Given the description of an element on the screen output the (x, y) to click on. 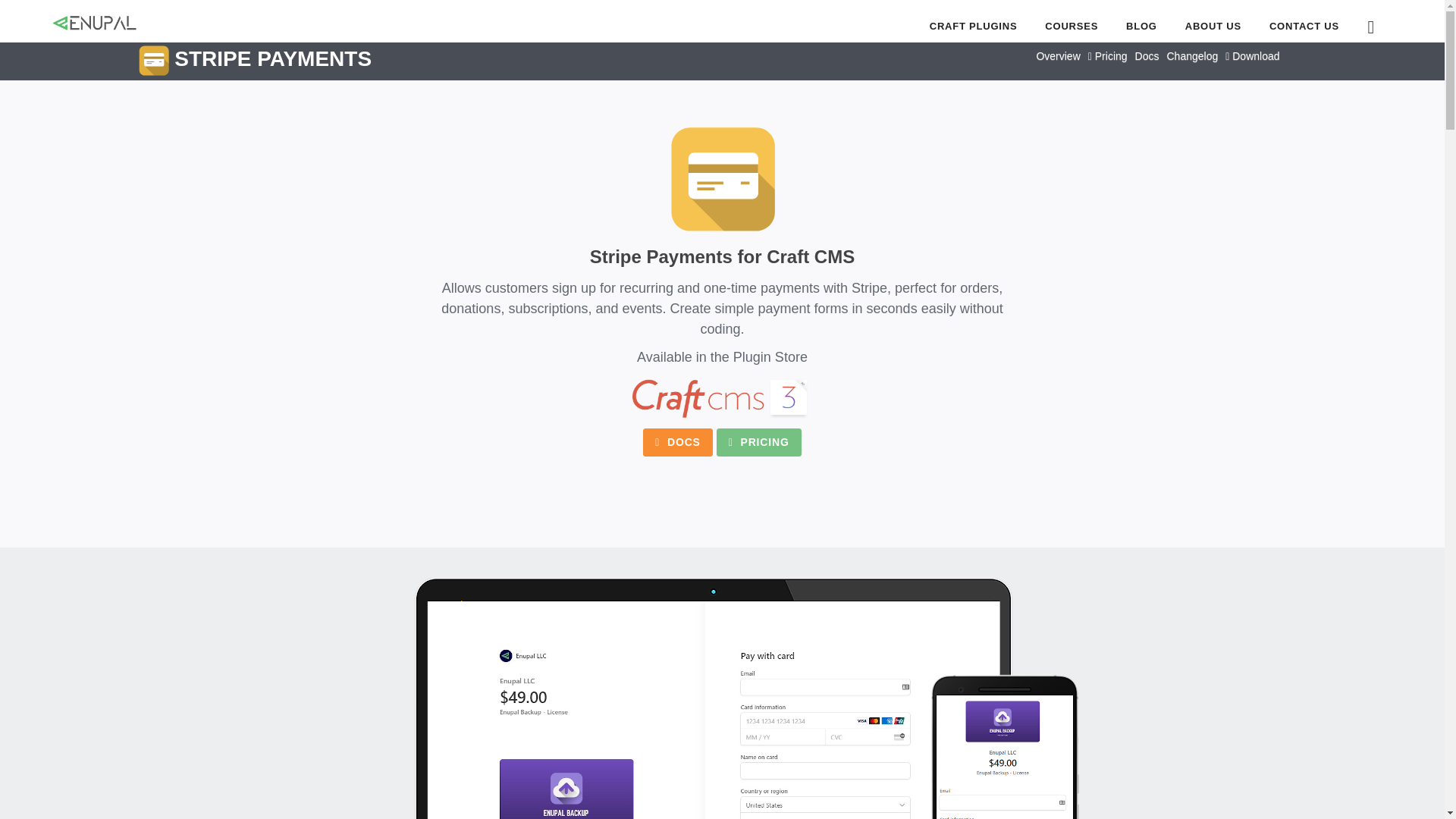
Docs (1147, 55)
Changelog (1191, 55)
PRICING (759, 442)
BLOG (1141, 26)
COURSES (1071, 26)
DOCS (678, 442)
ABOUT US (1213, 26)
Pricing (1107, 55)
Overview (1057, 55)
Download (1251, 55)
STRIPE PAYMENTS (254, 60)
CONTACT US (1119, 25)
CRAFT PLUGINS (1304, 26)
